Given the description of an element on the screen output the (x, y) to click on. 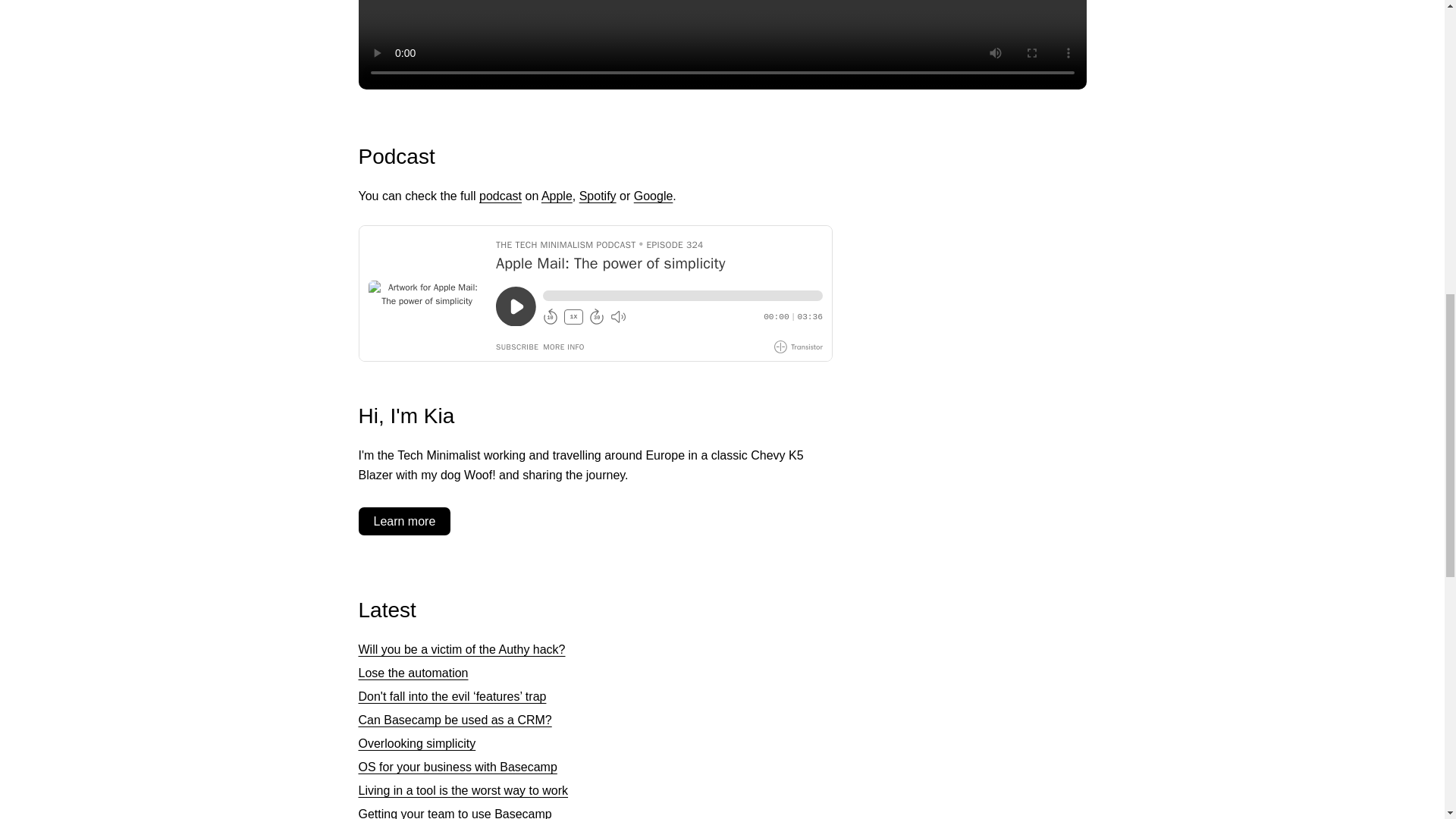
Google (652, 195)
Apple Mail: Organisation without folders (722, 44)
Getting your team to use Basecamp (454, 813)
Can Basecamp be used as a CRM? (454, 719)
Lose the automation (412, 672)
Overlooking simplicity (417, 743)
Lose the automation (412, 672)
Spotify (597, 195)
Living in a tool is the worst way to work (462, 789)
OS for your business with Basecamp (457, 766)
podcast (500, 195)
Spotify (597, 195)
Learn more (403, 520)
Google (652, 195)
Apple (556, 195)
